Given the description of an element on the screen output the (x, y) to click on. 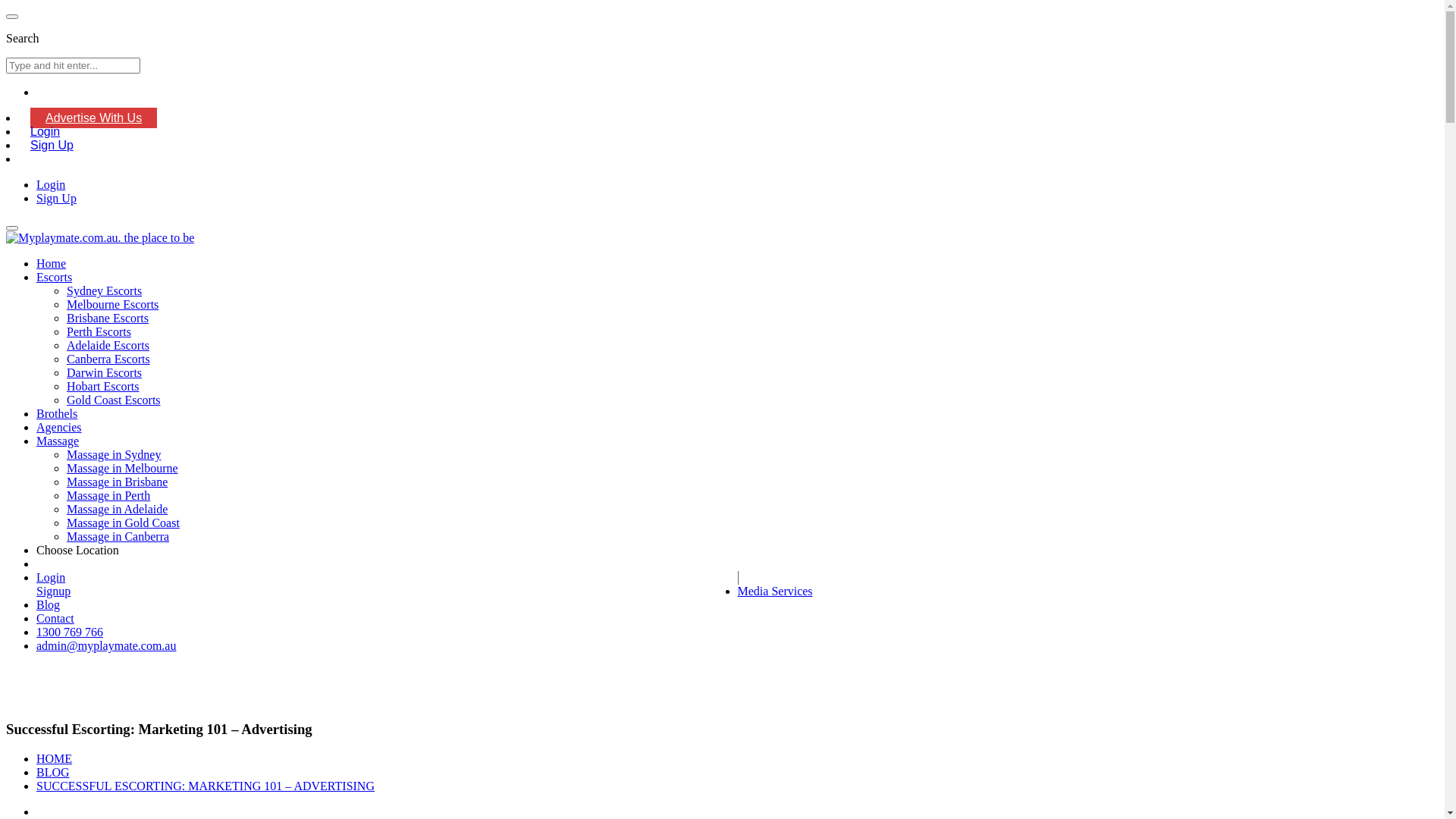
Login Element type: text (50, 184)
HOME Element type: text (54, 758)
Media Services Element type: text (774, 590)
Brisbane Escorts Element type: text (107, 317)
Escorts Element type: text (54, 276)
Perth Escorts Element type: text (98, 331)
Home Element type: text (50, 263)
Massage Element type: text (57, 440)
Login Element type: text (44, 131)
Massage in Adelaide Element type: text (116, 508)
Sydney Escorts Element type: text (103, 290)
Adelaide Escorts Element type: text (107, 344)
Advertise With Us Element type: text (93, 117)
Massage in Gold Coast Element type: text (122, 522)
Brothels Element type: text (56, 413)
Massage in Canberra Element type: text (117, 536)
1300 769 766 Element type: text (69, 631)
Canberra Escorts Element type: text (108, 358)
Darwin Escorts Element type: text (103, 372)
Choose Location Element type: text (77, 549)
admin@myplaymate.com.au Element type: text (105, 645)
Signup Element type: text (386, 591)
Massage in Perth Element type: text (108, 495)
Login Element type: text (387, 577)
Gold Coast Escorts Element type: text (113, 399)
Melbourne Escorts Element type: text (112, 304)
Massage in Sydney Element type: text (113, 454)
Contact Element type: text (55, 617)
BLOG Element type: text (52, 771)
Sign Up Element type: text (51, 144)
Sign Up Element type: text (56, 197)
Blog Element type: text (47, 604)
Massage in Brisbane Element type: text (116, 481)
Agencies Element type: text (58, 426)
Massage in Melbourne Element type: text (122, 467)
Hobart Escorts Element type: text (102, 385)
